Given the description of an element on the screen output the (x, y) to click on. 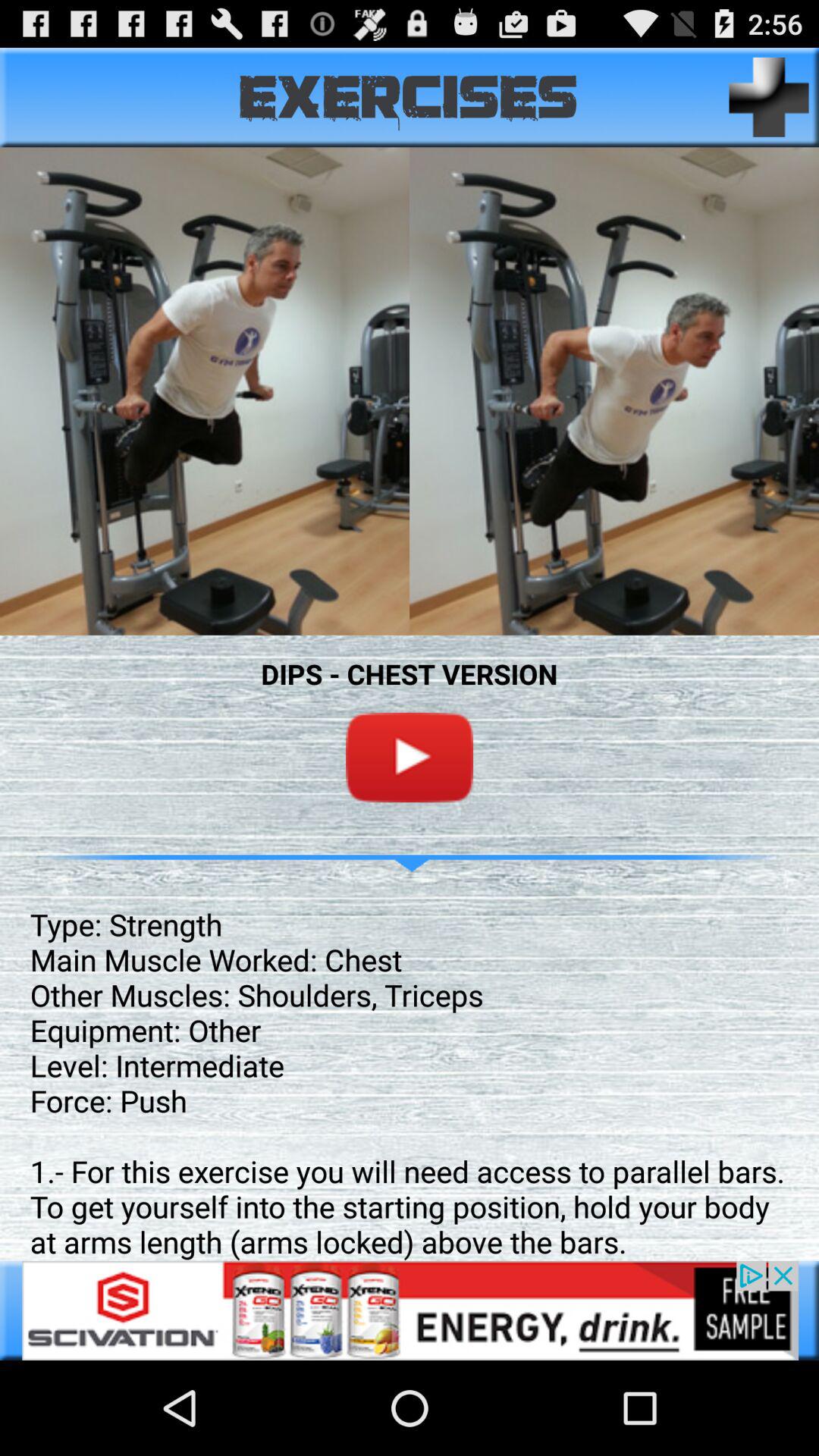
share the article (409, 1310)
